Given the description of an element on the screen output the (x, y) to click on. 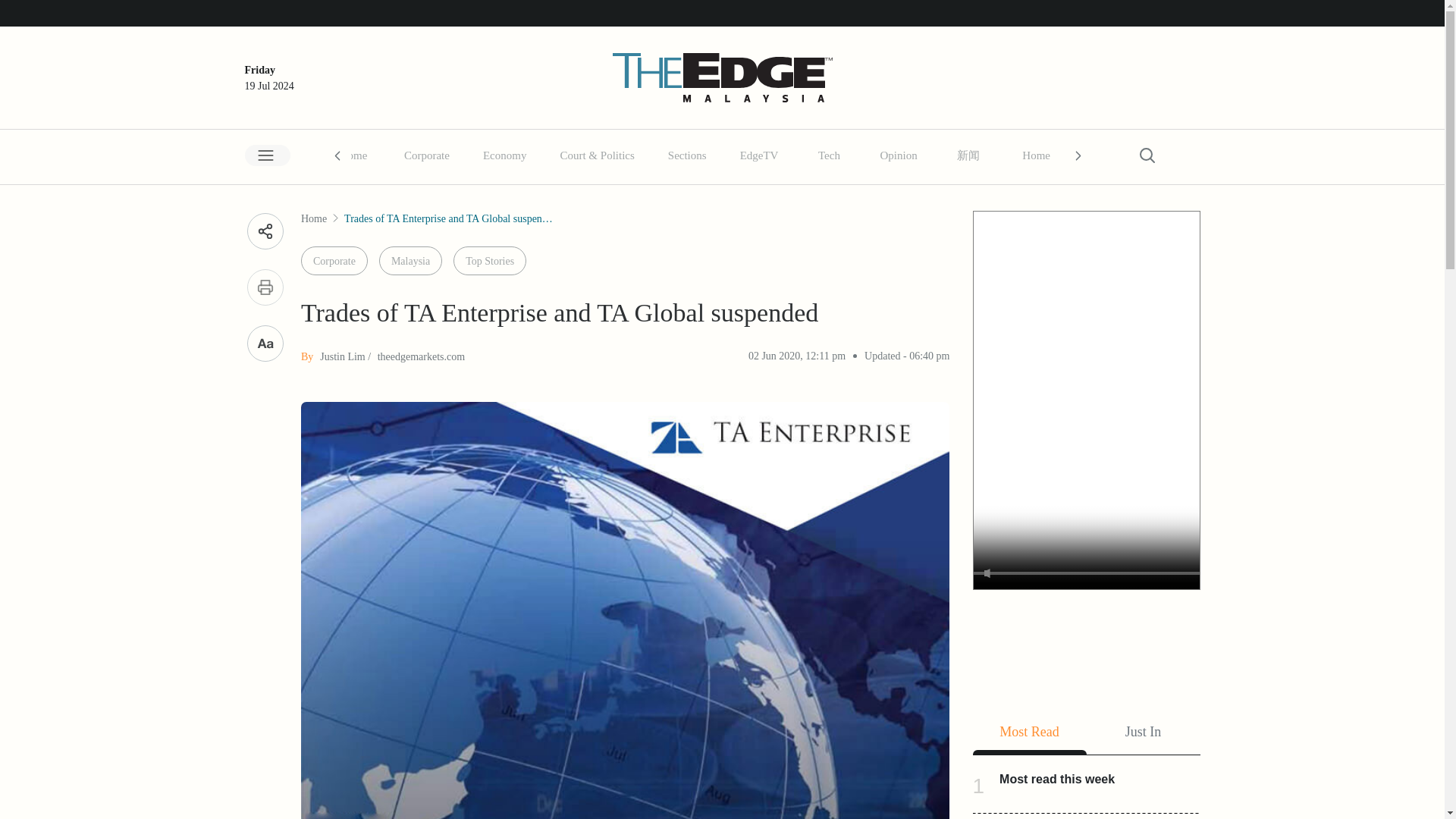
Home (353, 154)
Corporate (426, 154)
Tech (829, 154)
Corporate (434, 154)
Home (1044, 154)
Opinion (905, 154)
Opinion (898, 154)
EdgeTV (758, 154)
Economy (504, 154)
Home (360, 154)
Economy (512, 154)
Tech (836, 154)
Sections (694, 154)
EdgeTV (766, 154)
Sections (687, 154)
